Given the description of an element on the screen output the (x, y) to click on. 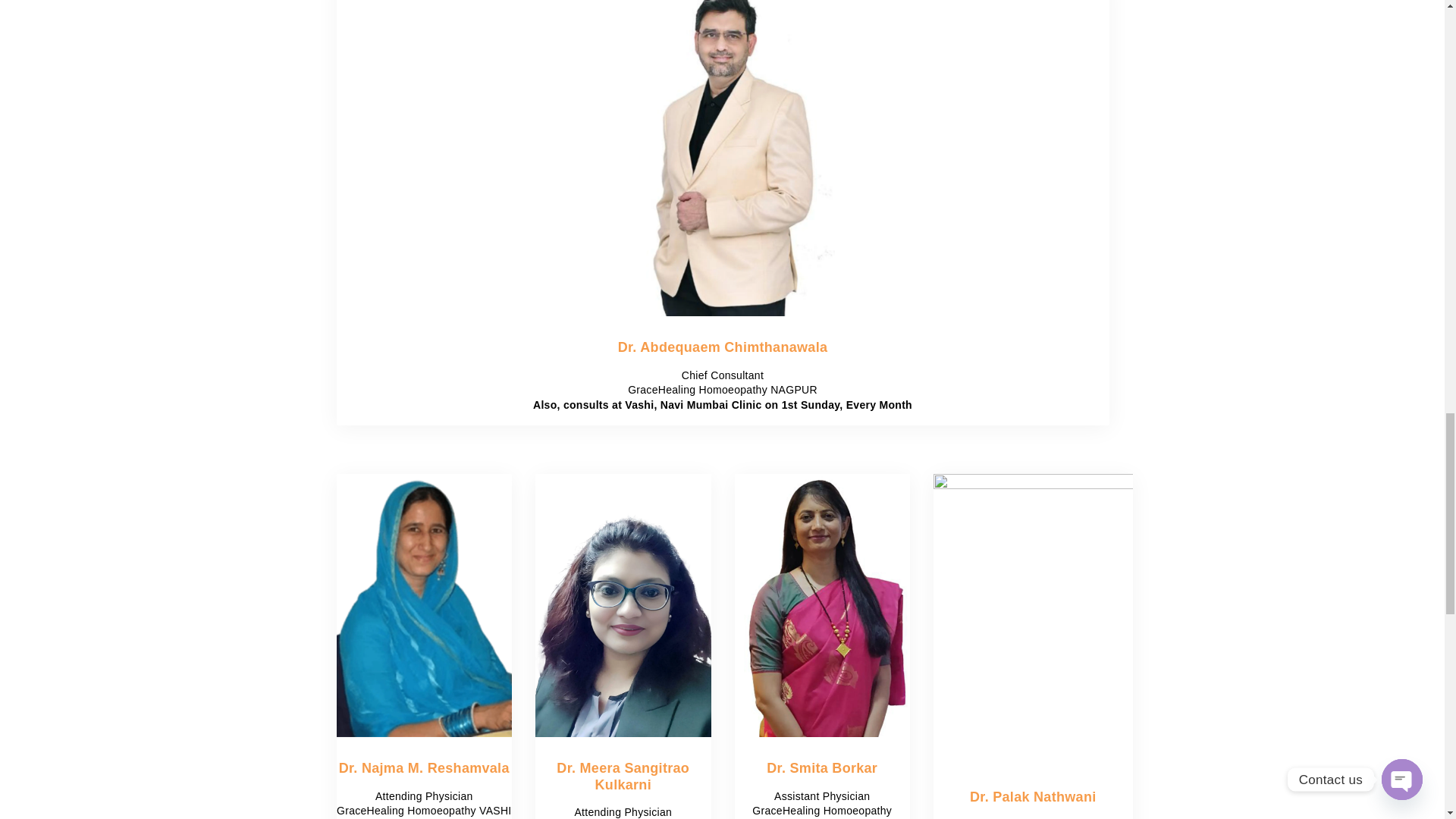
Dr. Najma M. Reshamvala (424, 767)
Dr. Meera Sangitrao Kulkarni (622, 776)
Dr. Abdequaem Chimthanawala (722, 346)
